Given the description of an element on the screen output the (x, y) to click on. 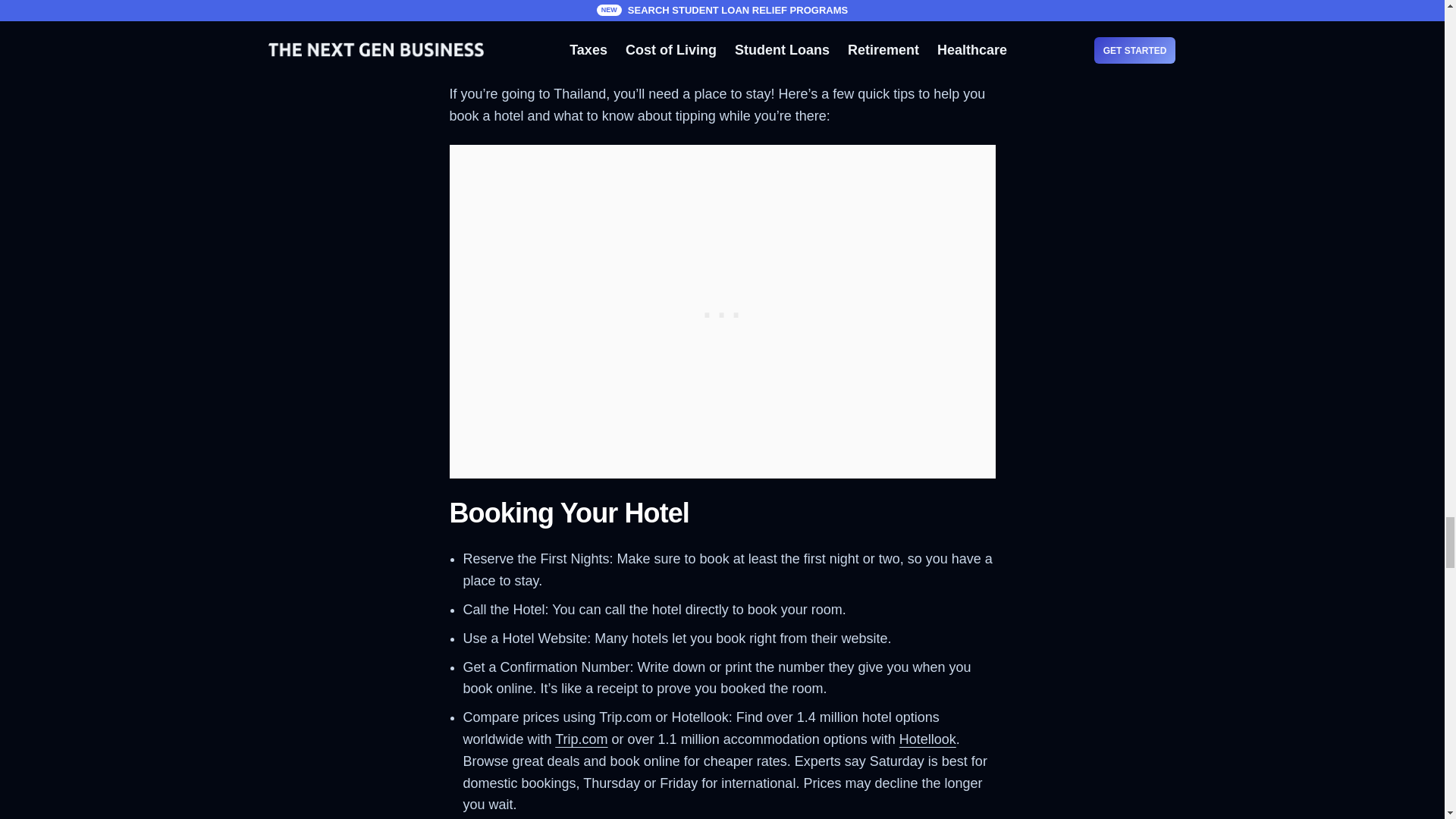
Hotellook (927, 739)
Trip.com (580, 739)
